Given the description of an element on the screen output the (x, y) to click on. 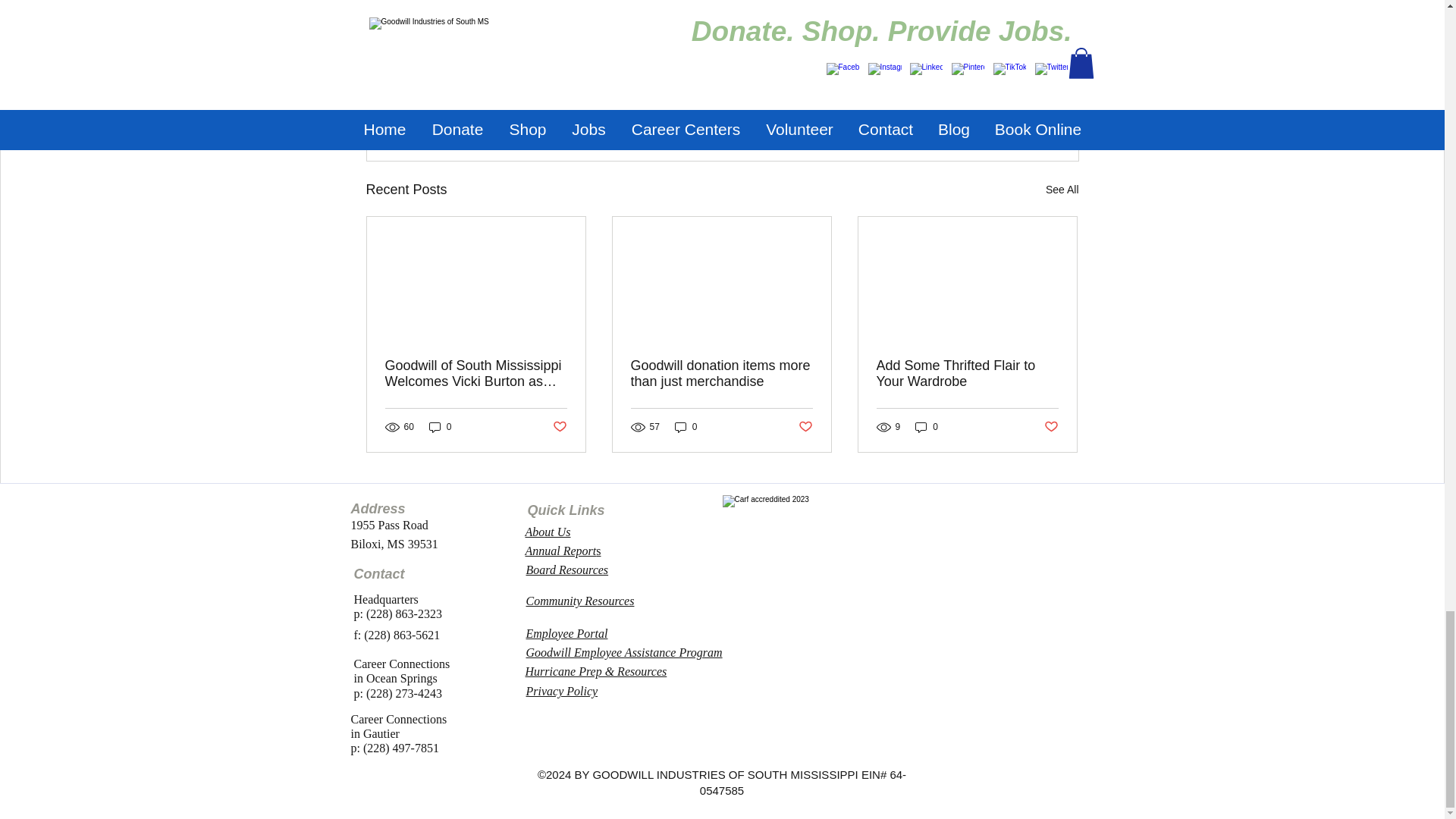
Post not marked as liked (804, 426)
CARF Certification logo.jpg (826, 553)
0 (440, 427)
About Us (547, 531)
Post not marked as liked (990, 106)
Add Some Thrifted Flair to Your Wardrobe (558, 426)
0 (967, 373)
0 (926, 427)
See All (685, 427)
Post not marked as liked (1061, 189)
Goodwill donation items more than just merchandise (1050, 426)
